Given the description of an element on the screen output the (x, y) to click on. 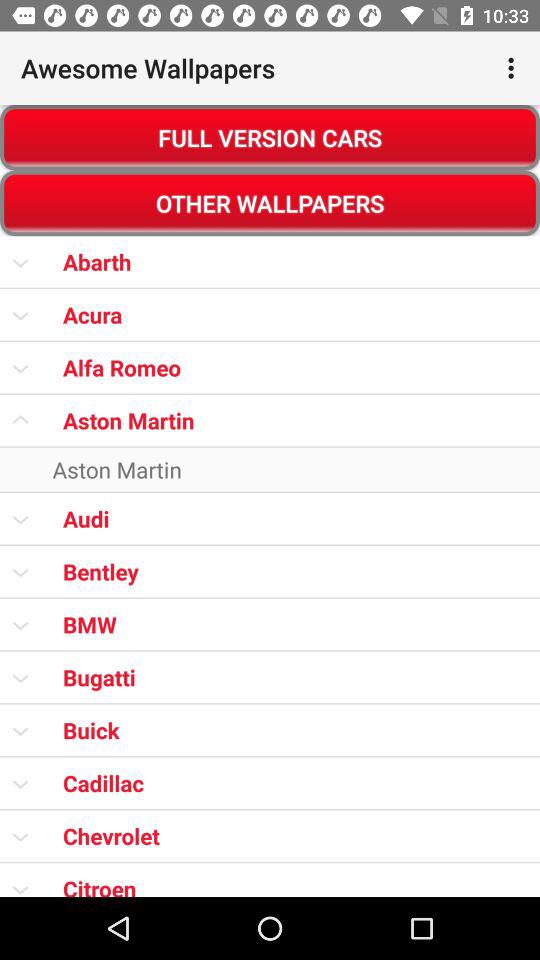
launch item to the right of awesome wallpapers item (513, 67)
